Given the description of an element on the screen output the (x, y) to click on. 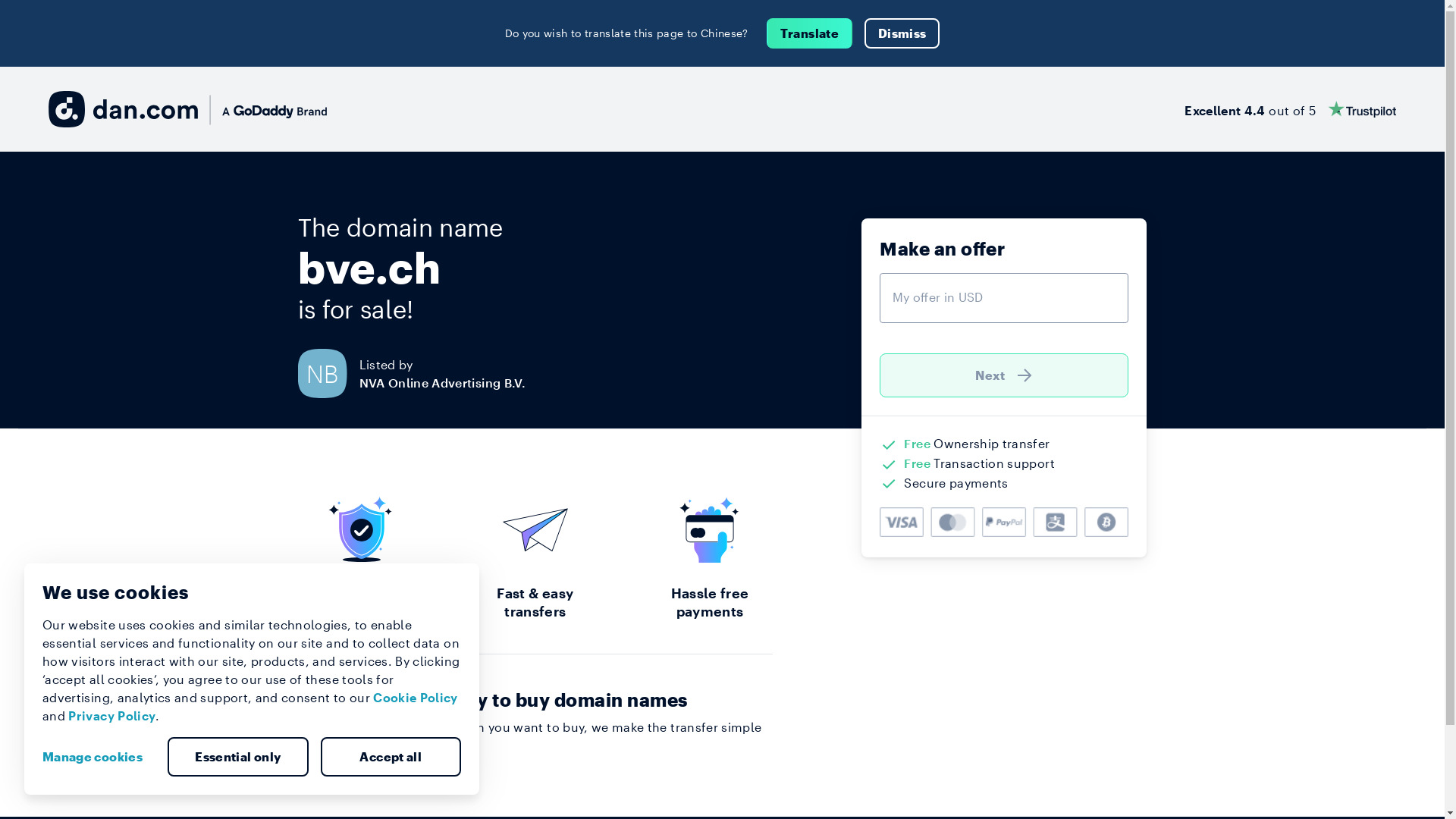
Privacy Policy Element type: text (111, 715)
Essential only Element type: text (237, 756)
Next
) Element type: text (1003, 375)
Excellent 4.4 out of 5 Element type: text (1290, 109)
Accept all Element type: text (390, 756)
Manage cookies Element type: text (98, 756)
Translate Element type: text (809, 33)
Cookie Policy Element type: text (415, 697)
Dismiss Element type: text (901, 33)
